Given the description of an element on the screen output the (x, y) to click on. 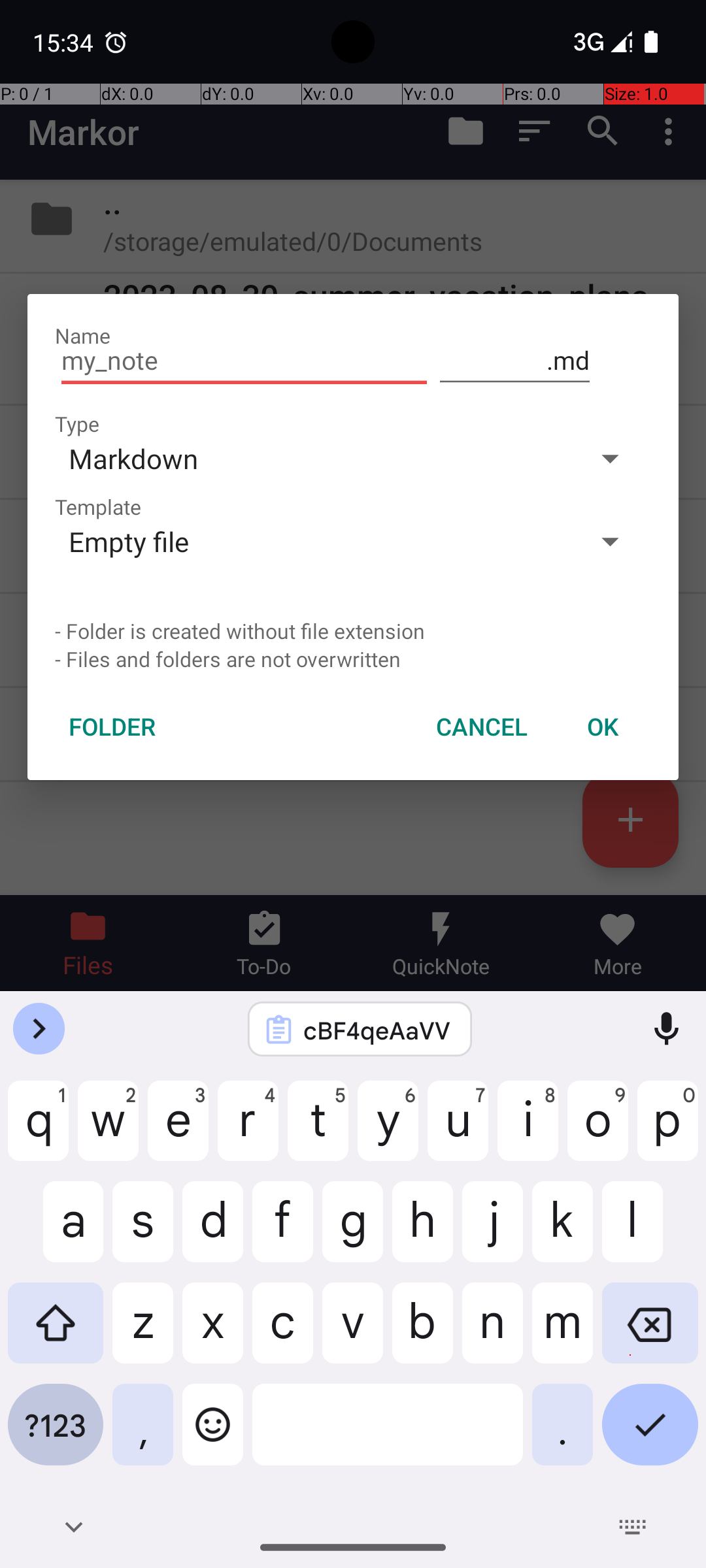
cBF4qeAaVV Element type: android.widget.TextView (377, 1029)
